Given the description of an element on the screen output the (x, y) to click on. 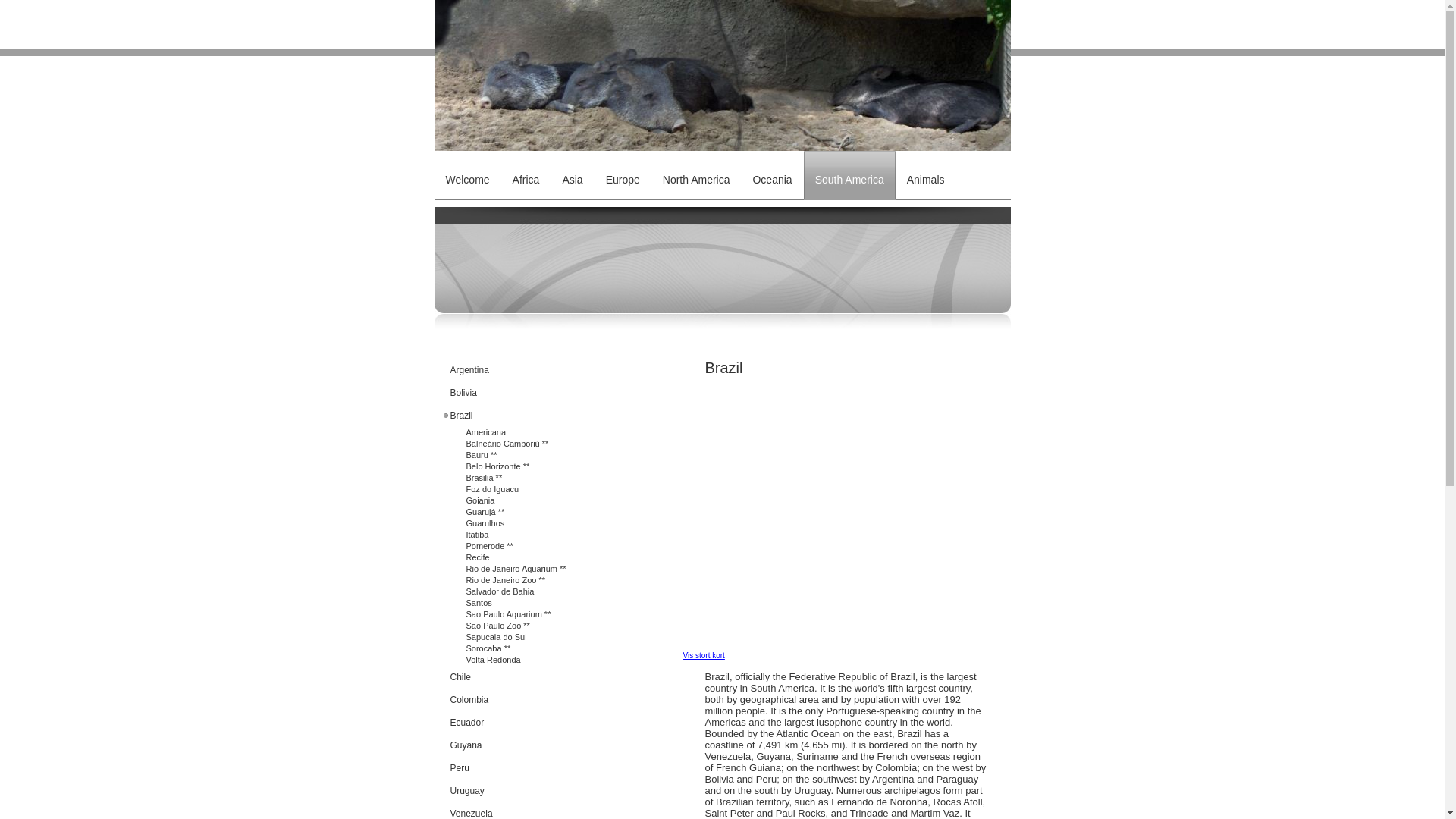
South America (849, 174)
North America (696, 157)
Oceania (771, 157)
Recife (534, 557)
Argentina (534, 369)
Welcome (467, 157)
Foz do Iguacu (534, 489)
North America (696, 157)
Santos (534, 603)
Americana (534, 432)
Colombia (534, 699)
Peru (534, 767)
Bolivia (534, 392)
Uruguay (534, 790)
Animals (925, 157)
